Given the description of an element on the screen output the (x, y) to click on. 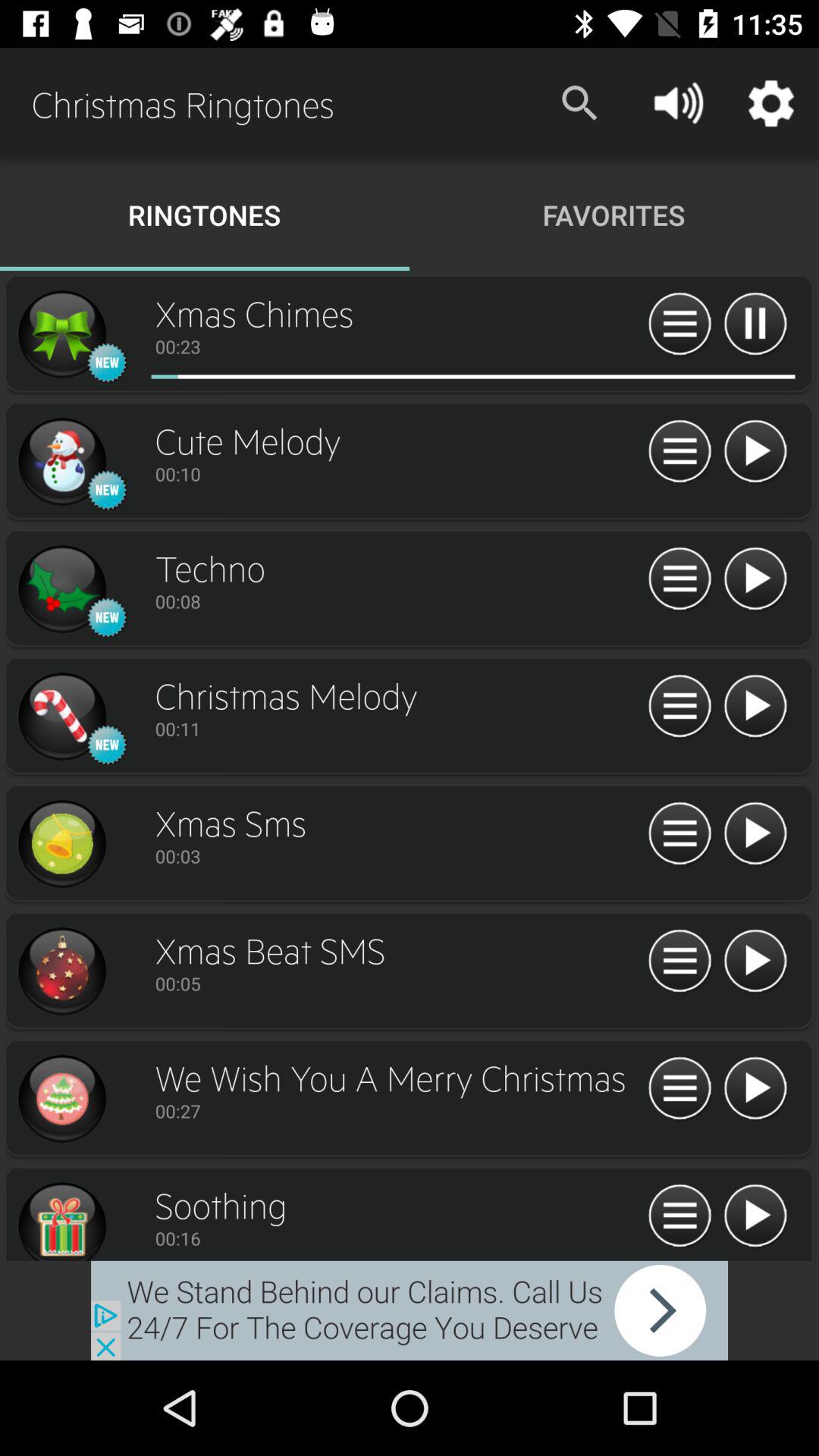
to play a particular tune (755, 961)
